Given the description of an element on the screen output the (x, y) to click on. 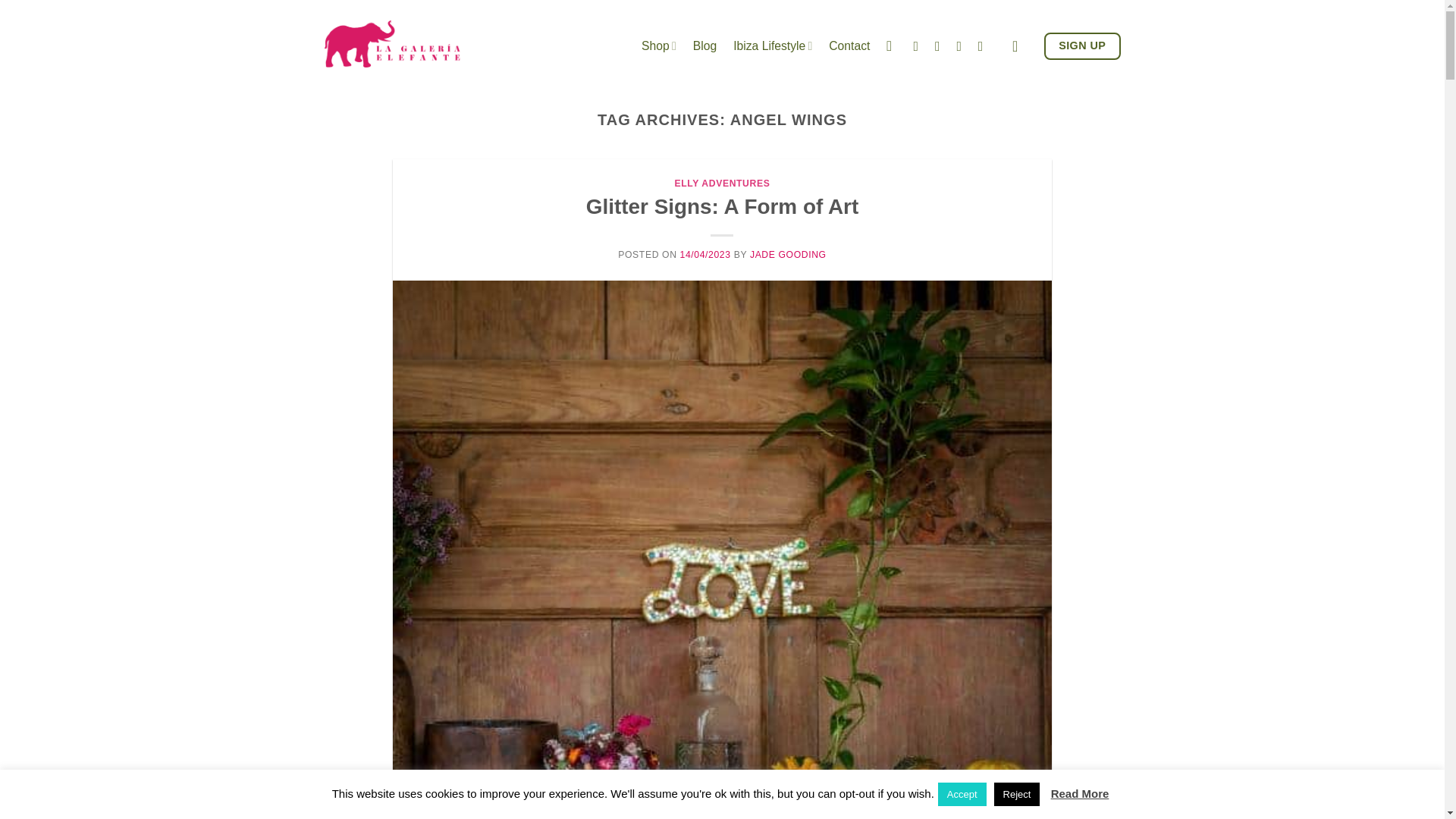
Send us an email (962, 46)
La Galeria Elefante Ibiza - The Elly treasure trove (392, 43)
Follow on Facebook (919, 46)
Follow on Pinterest (984, 46)
Follow on Instagram (941, 46)
